Given the description of an element on the screen output the (x, y) to click on. 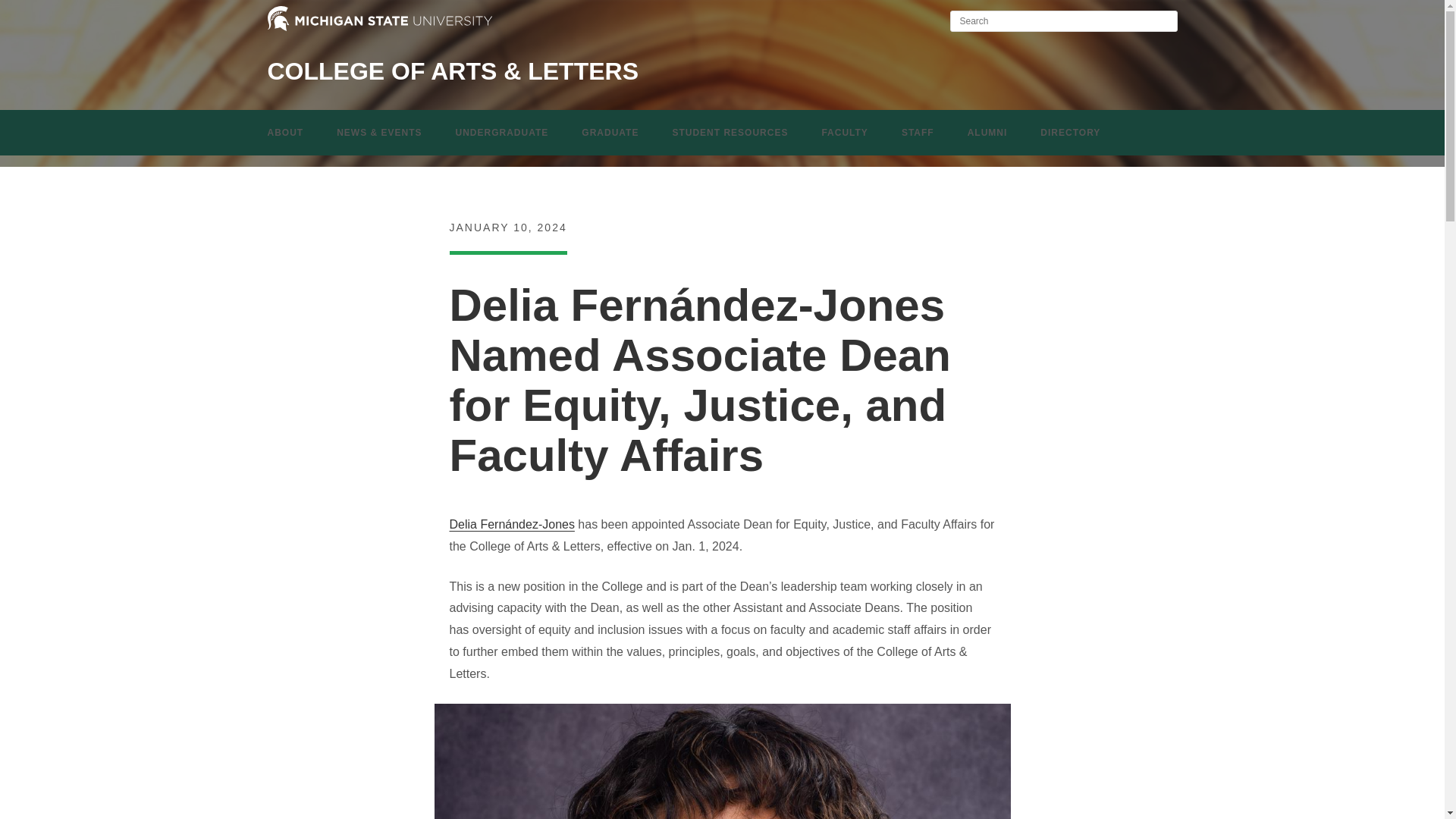
ABOUT (285, 132)
UNDERGRADUATE (502, 132)
Michigan State University (379, 18)
Michigan State University (379, 27)
